Given the description of an element on the screen output the (x, y) to click on. 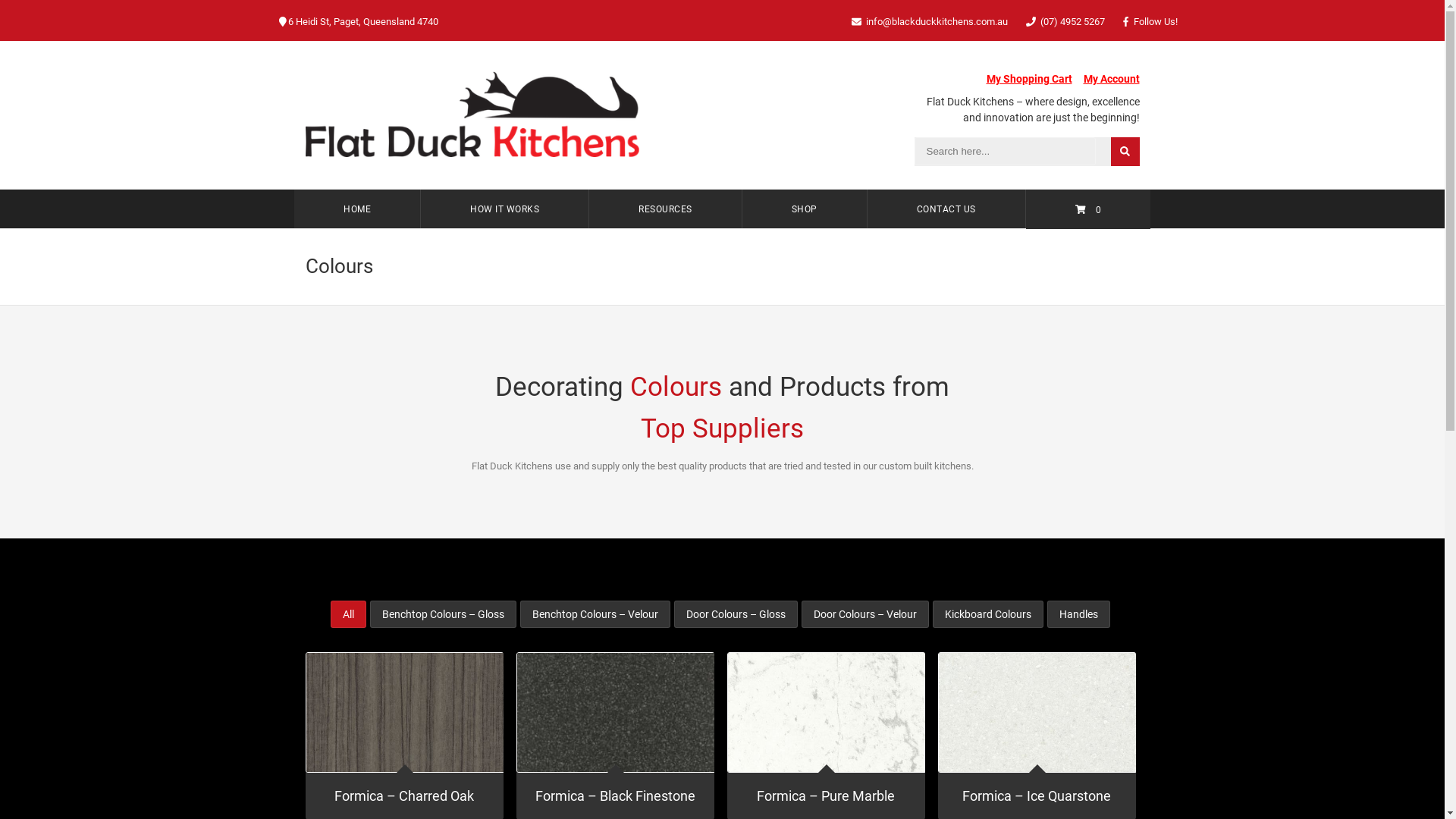
All Element type: text (348, 613)
Flat Duck Kitchens Element type: hover (471, 113)
SHOP Element type: text (803, 208)
My Shopping Cart Element type: text (1028, 78)
0 Element type: text (1087, 209)
CONTACT US Element type: text (946, 208)
My Account Element type: text (1110, 78)
HOME Element type: text (357, 208)
HOW IT WORKS Element type: text (504, 208)
info@blackduckkitchens.com.au Element type: text (936, 21)
(07) 4952 5267 Element type: text (1072, 21)
Handles Element type: text (1078, 613)
Kickboard Colours Element type: text (987, 613)
Follow Us! Element type: text (1154, 21)
RESOURCES Element type: text (665, 208)
